Given the description of an element on the screen output the (x, y) to click on. 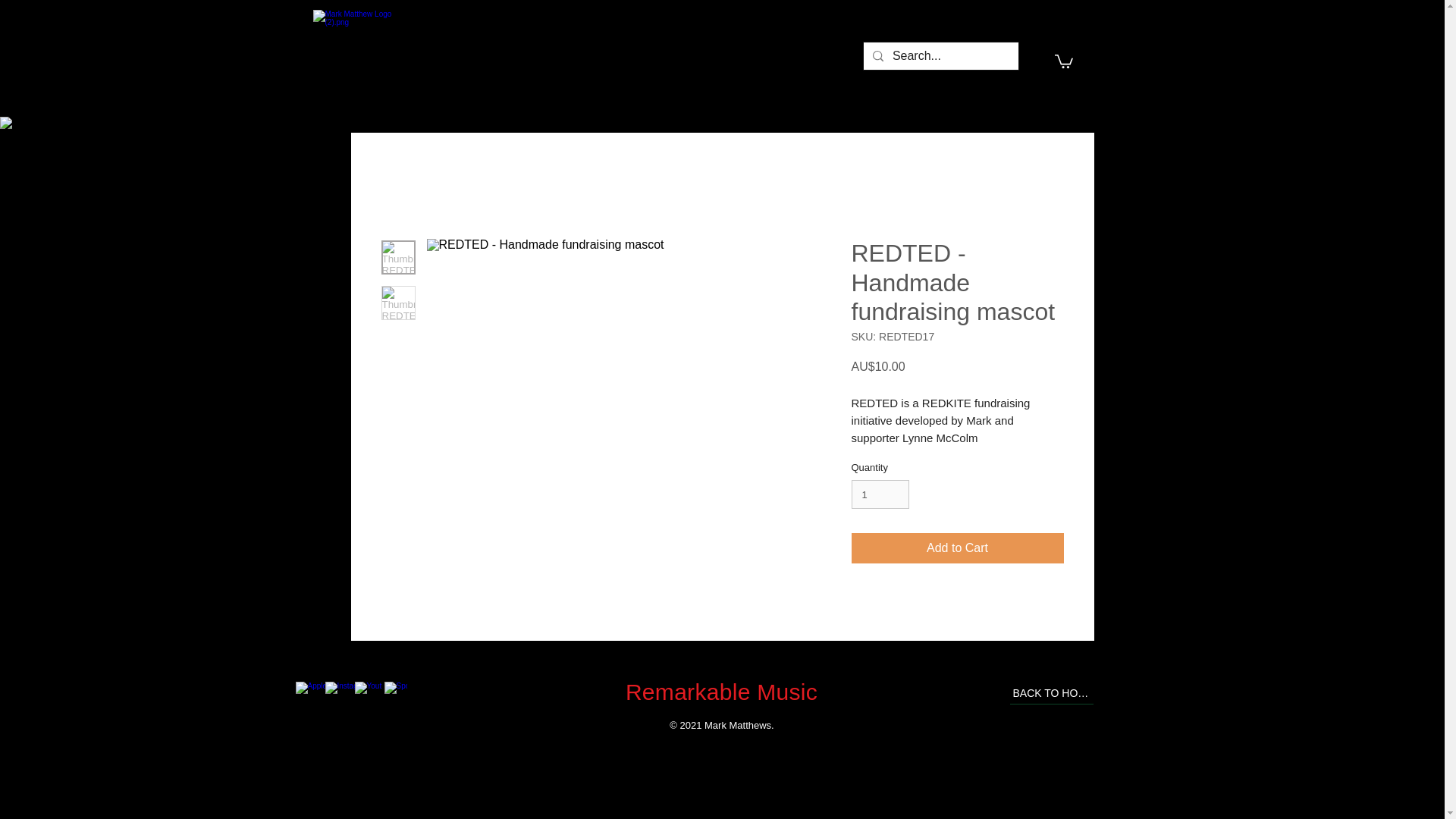
BACK TO HOME (1051, 692)
Add to Cart (956, 548)
1 (879, 493)
